Given the description of an element on the screen output the (x, y) to click on. 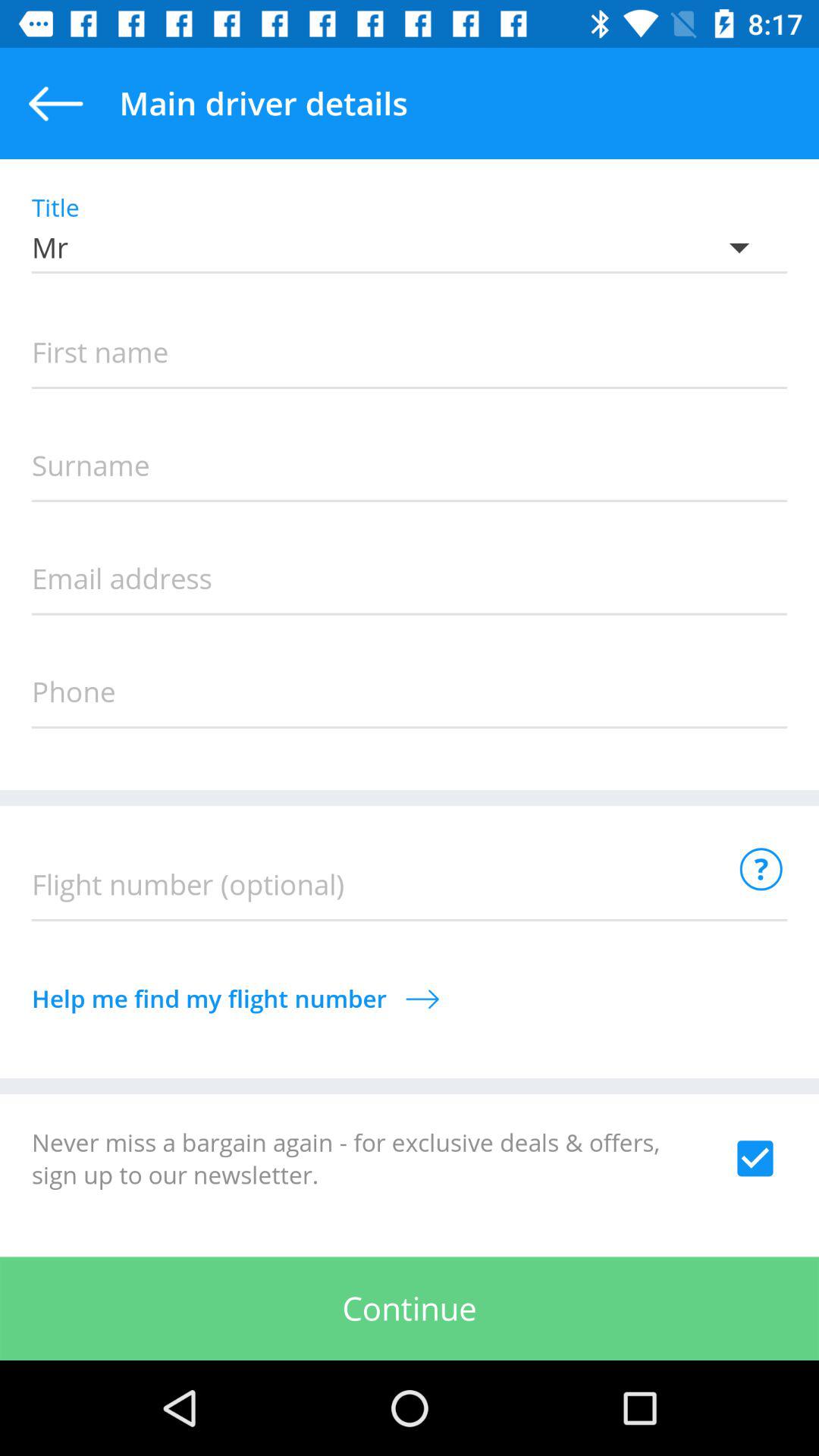
to create name option (409, 353)
